Given the description of an element on the screen output the (x, y) to click on. 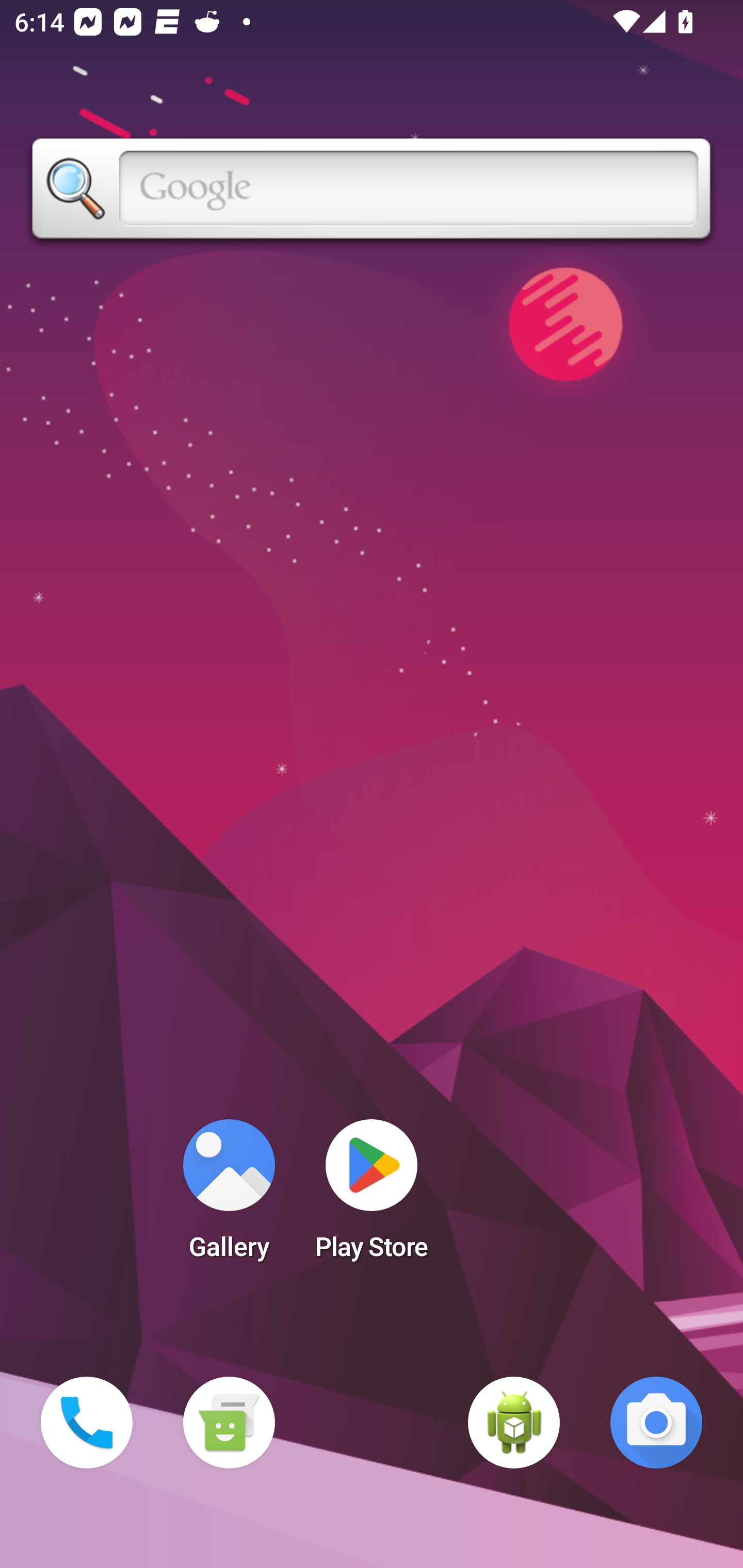
Gallery (228, 1195)
Play Store (371, 1195)
Phone (86, 1422)
Messaging (228, 1422)
WebView Browser Tester (513, 1422)
Camera (656, 1422)
